Given the description of an element on the screen output the (x, y) to click on. 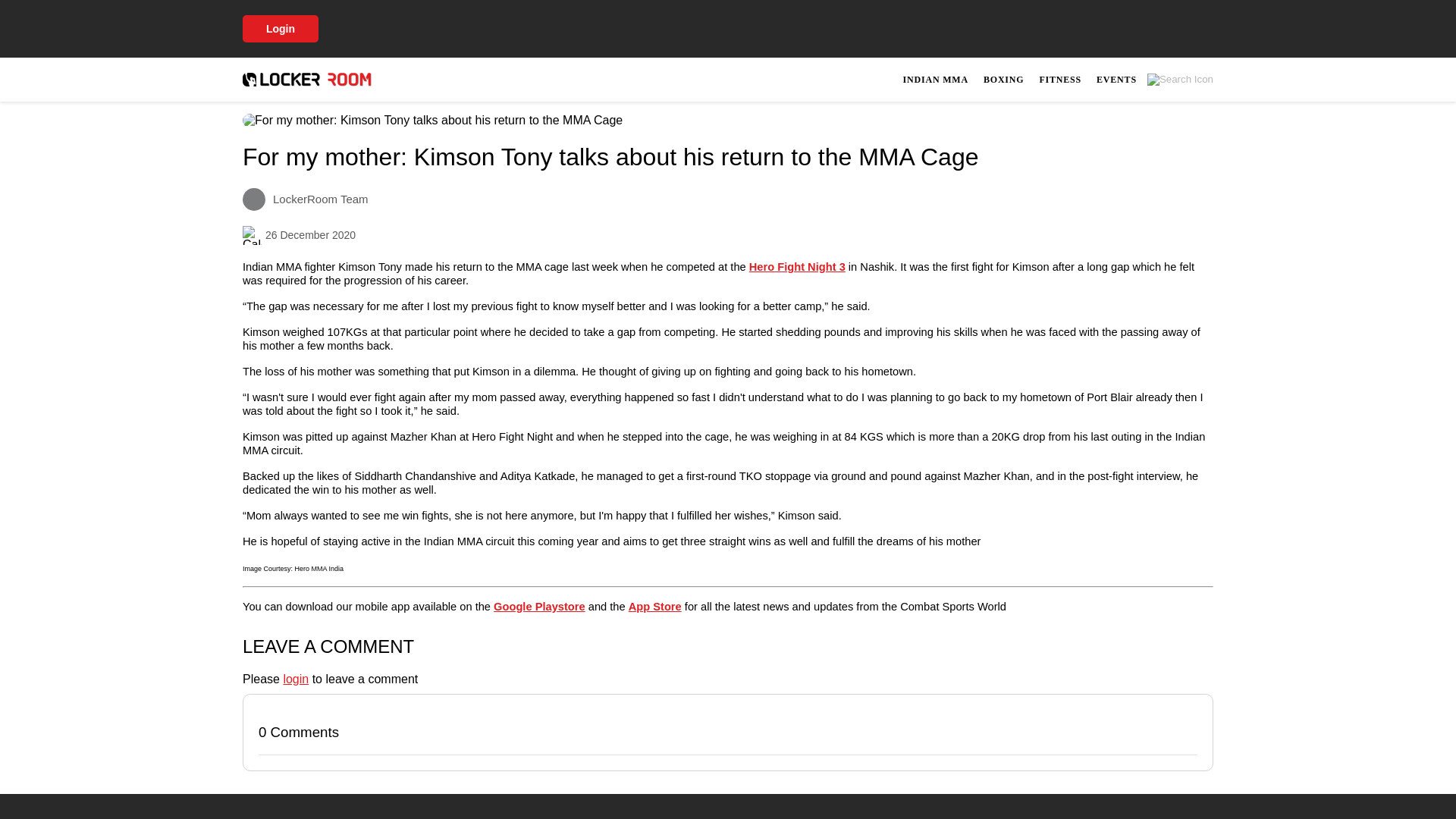
EVENTS (1116, 78)
App Store (654, 606)
BOXING (1002, 78)
Hero Fight Night 3 (797, 266)
INDIAN MMA (935, 78)
Google Playstore (539, 606)
FITNESS (1059, 78)
